Given the description of an element on the screen output the (x, y) to click on. 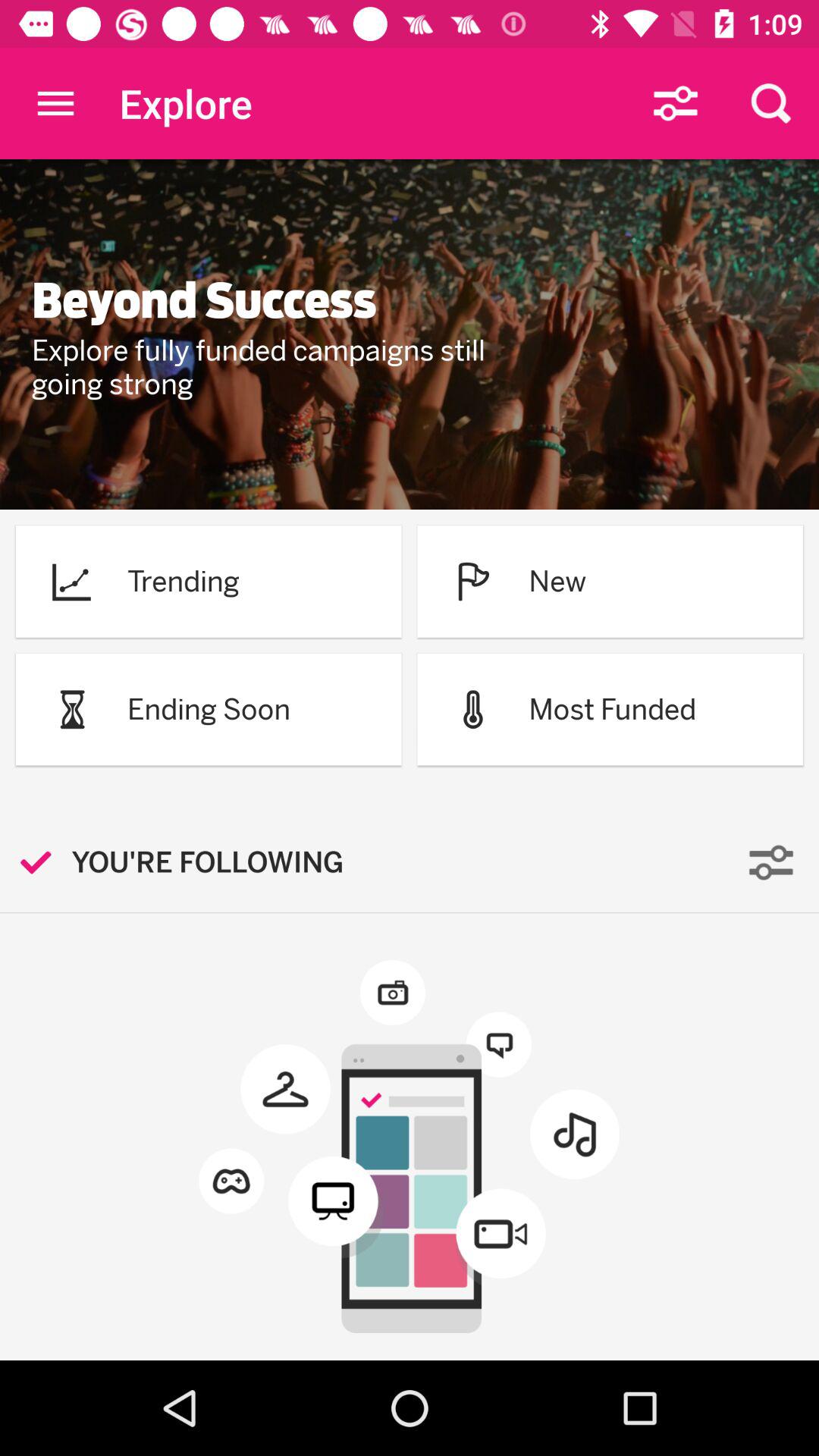
press the item above the you're following (71, 709)
